Given the description of an element on the screen output the (x, y) to click on. 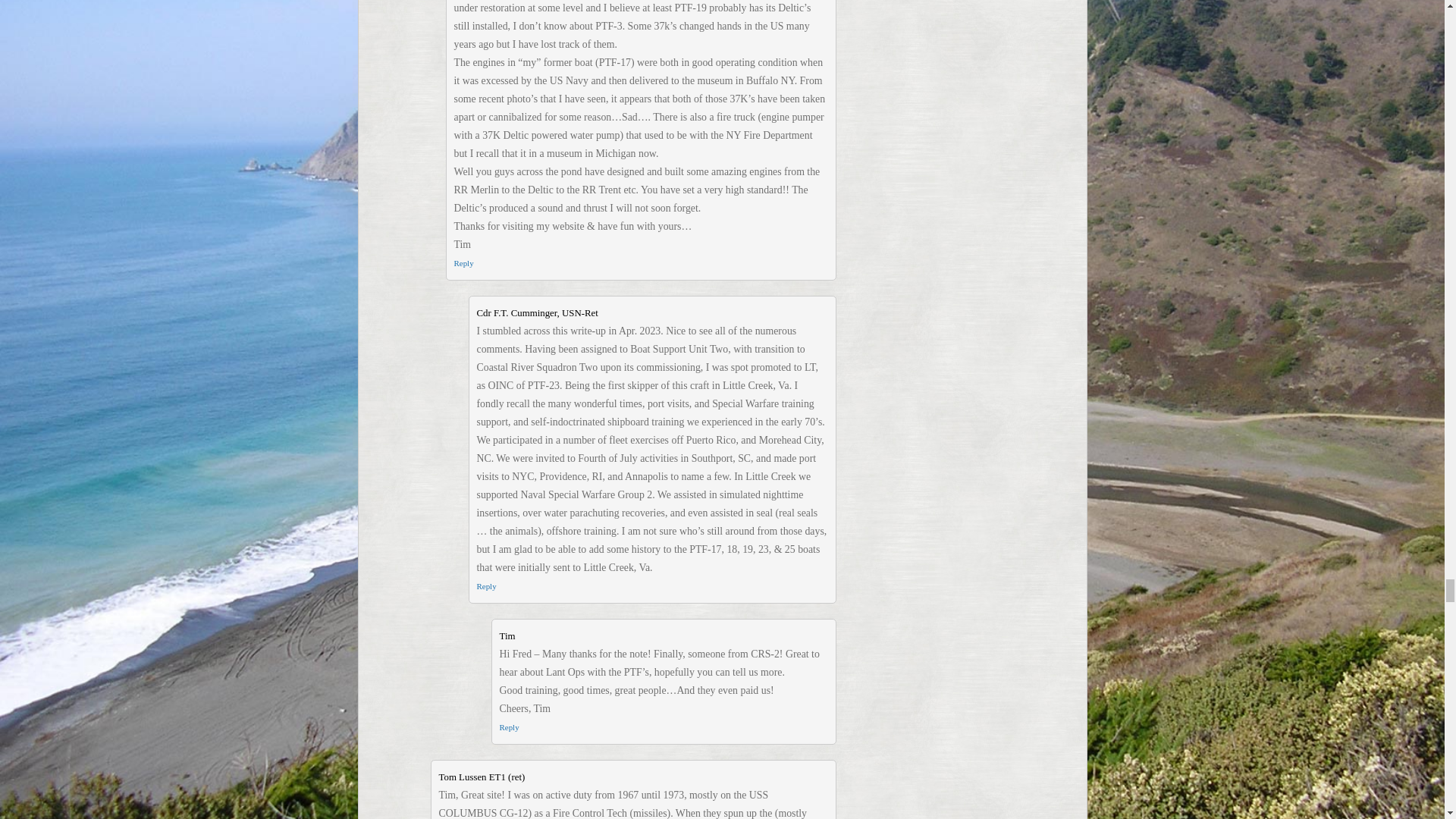
Reply (508, 727)
Reply (486, 585)
Reply (462, 262)
